Given the description of an element on the screen output the (x, y) to click on. 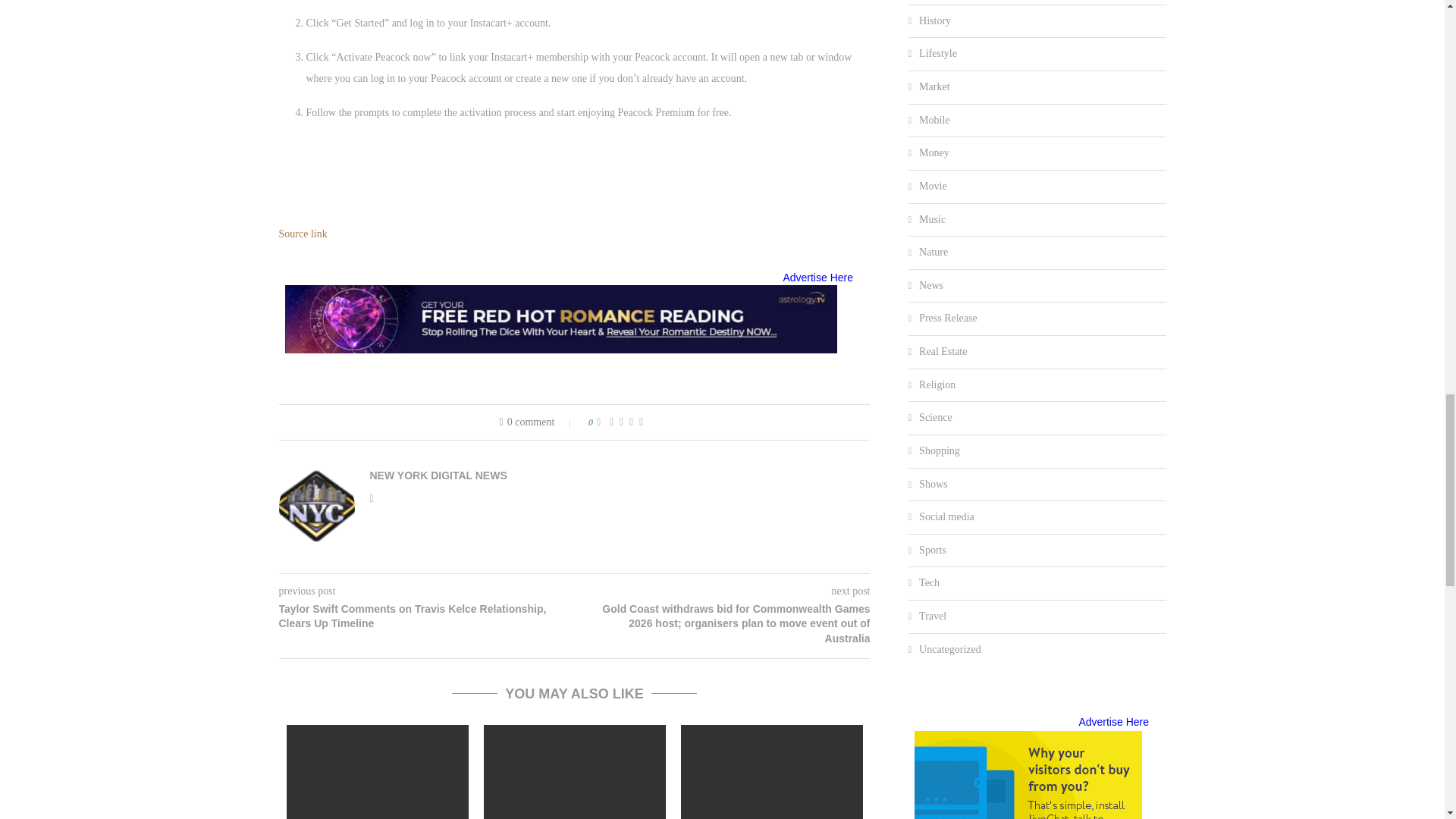
Sports streamer Fubo is suing Disney, FOX, and Warner Bros. (772, 771)
Author NEW YORK DIGITAL NEWS (437, 475)
